Given the description of an element on the screen output the (x, y) to click on. 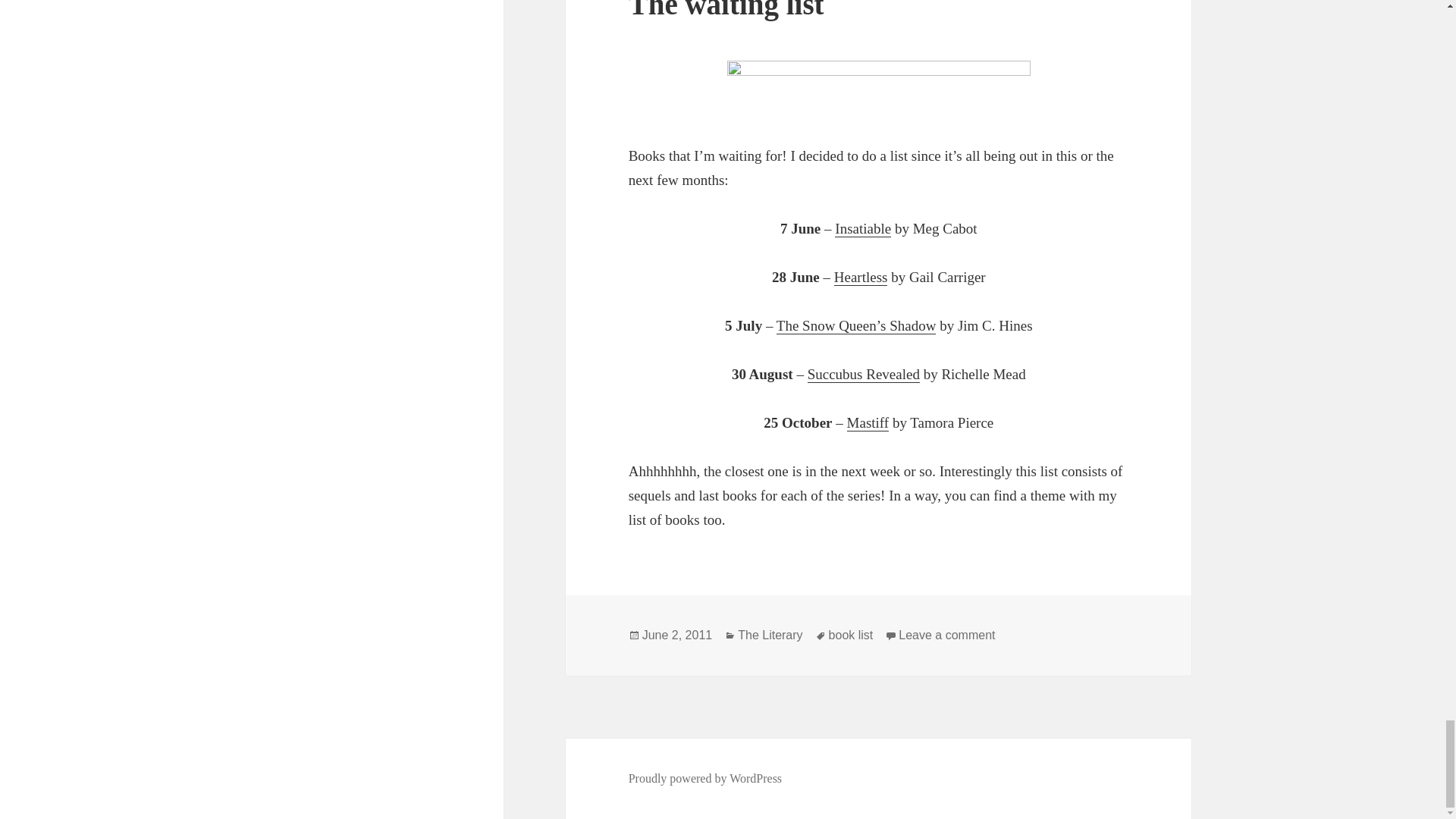
theliterary (878, 88)
